Given the description of an element on the screen output the (x, y) to click on. 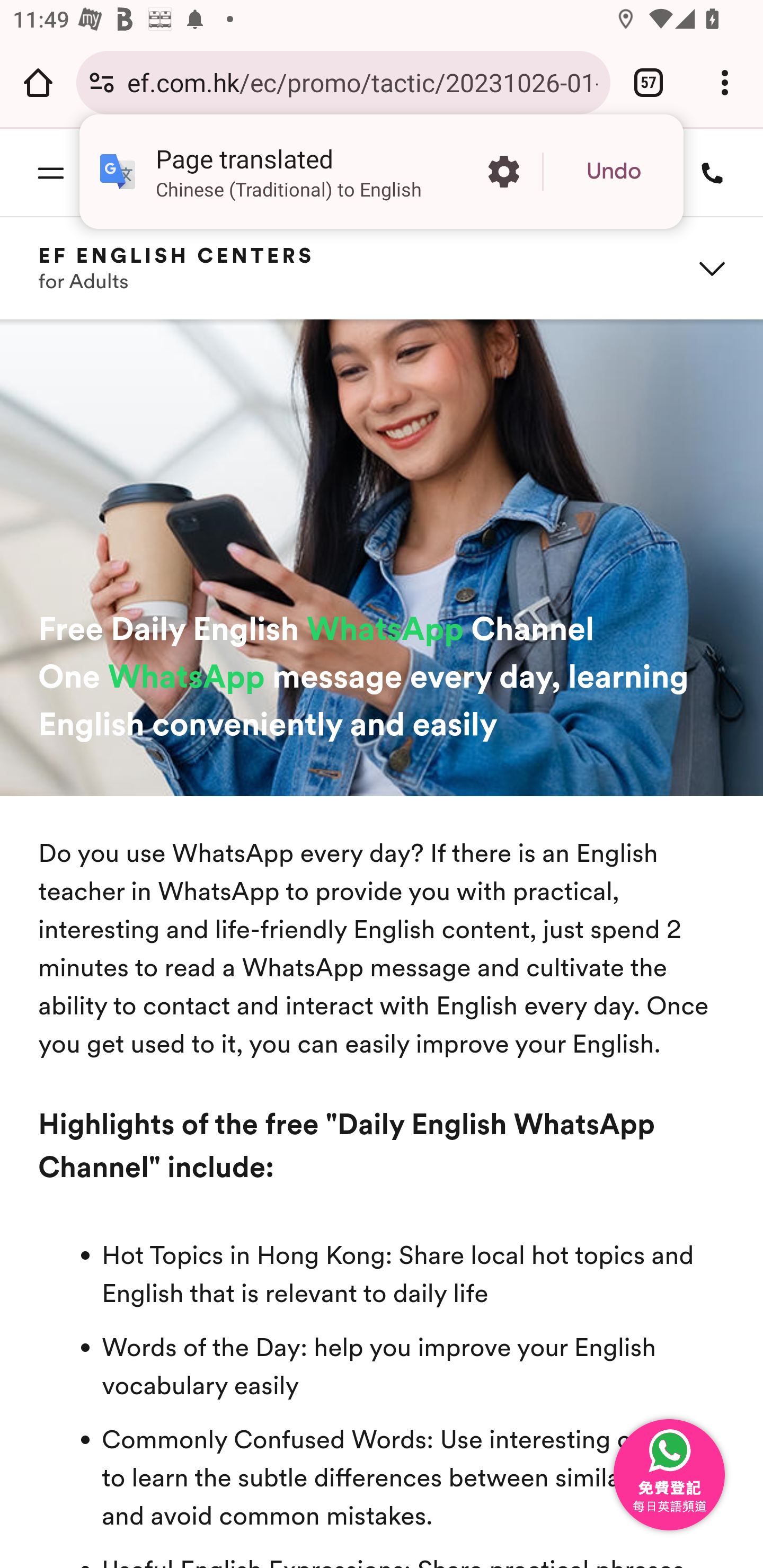
Open the home page (38, 82)
Connection is secure (101, 82)
Switch or close tabs (648, 82)
Customize and control Google Chrome (724, 82)
Undo (613, 171)
More options in the Page translated (503, 171)
tel:+85231133583 (705, 171)
